Given the description of an element on the screen output the (x, y) to click on. 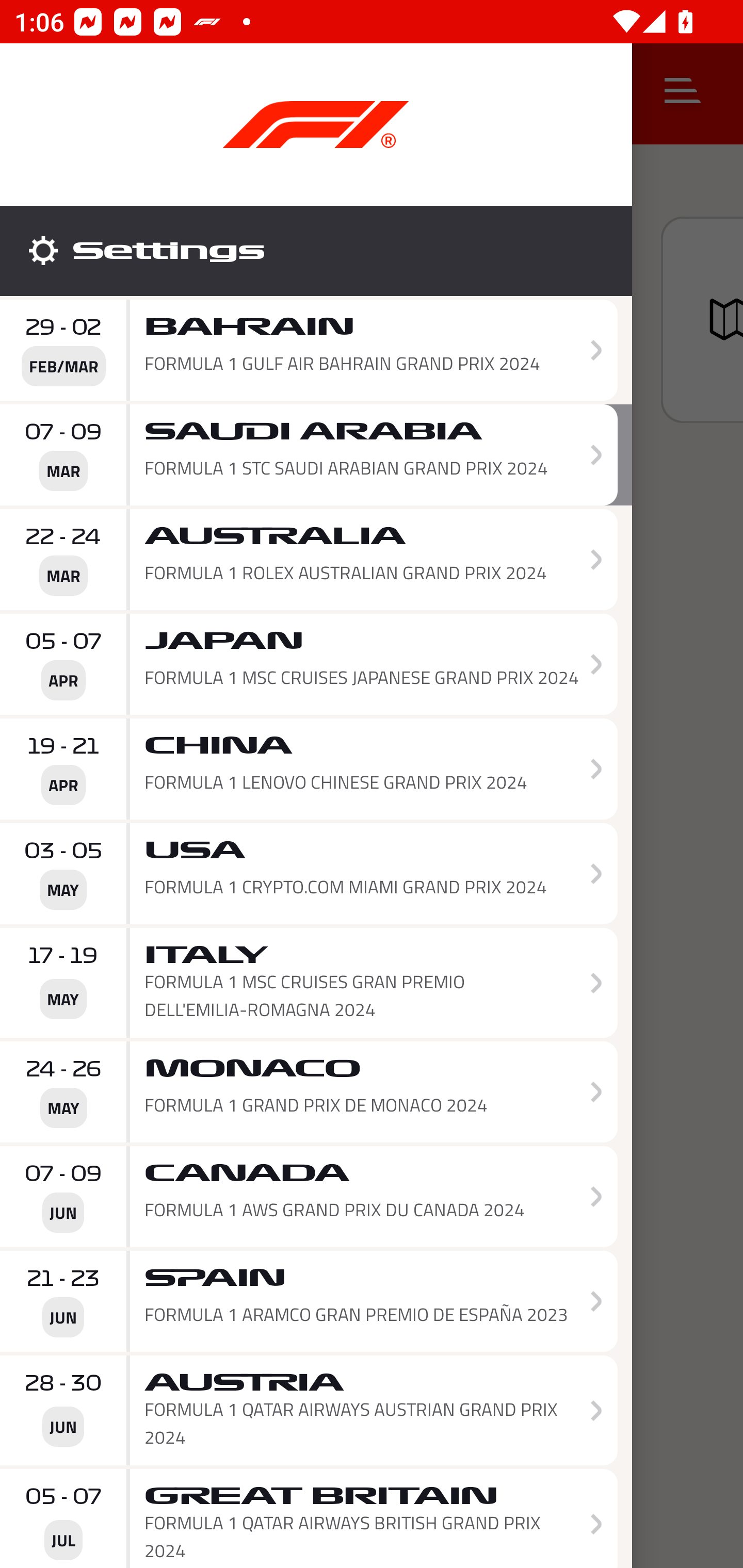
Settings (316, 250)
